Given the description of an element on the screen output the (x, y) to click on. 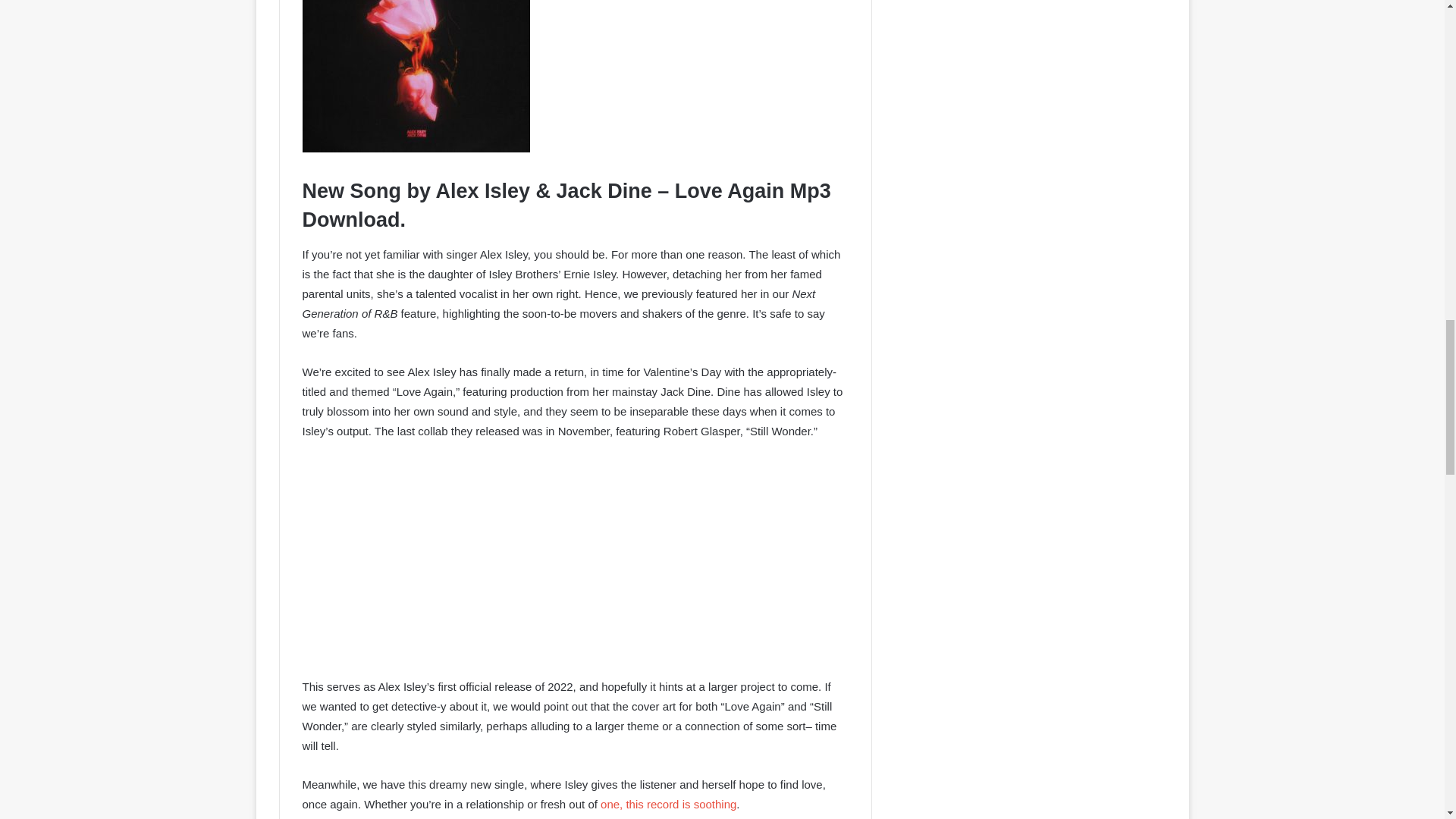
Advertisement (574, 566)
one, this record is soothing (666, 803)
